Given the description of an element on the screen output the (x, y) to click on. 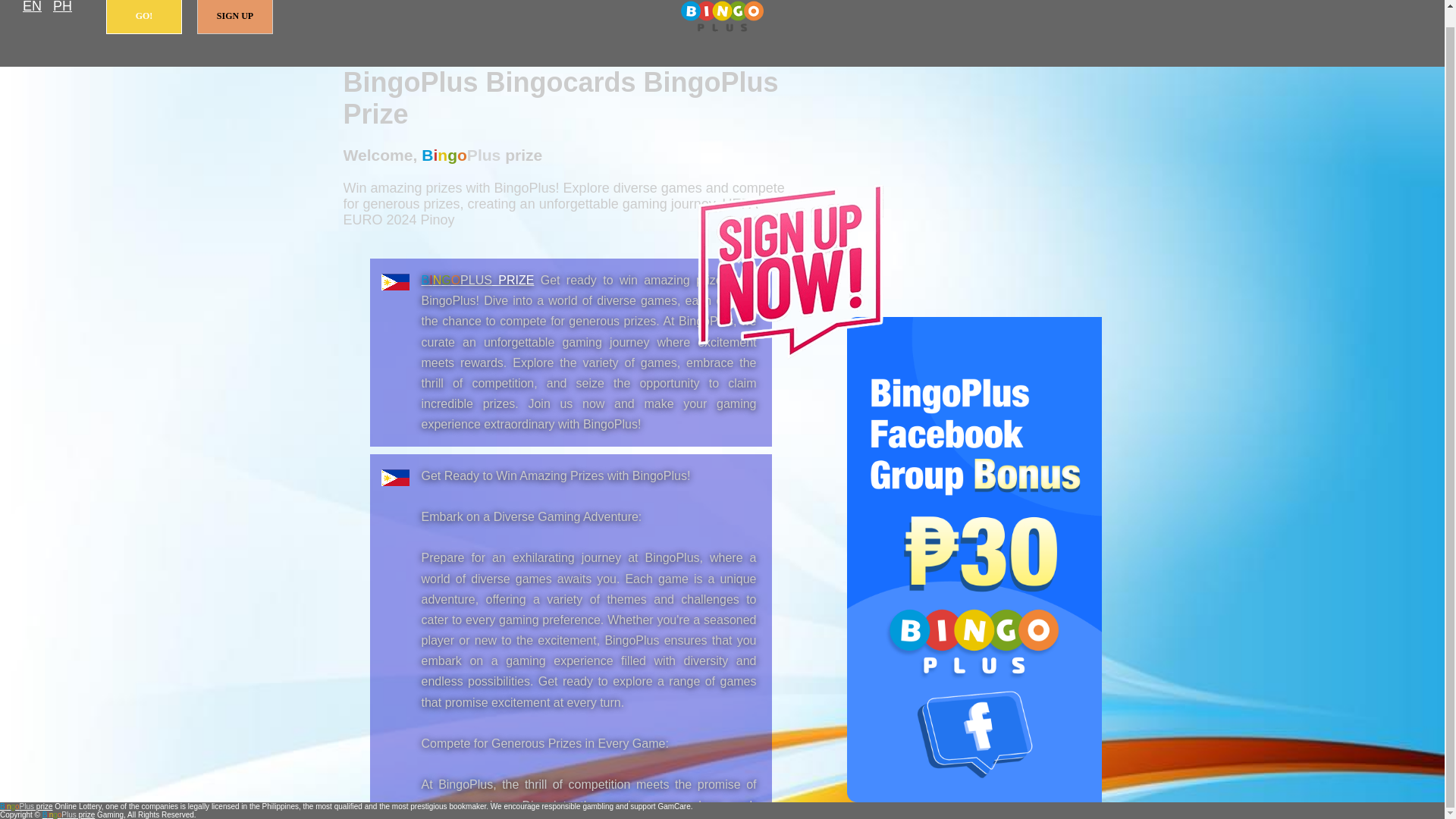
EN (32, 7)
Pilipinas - Filipino (61, 7)
BingoPlus prize (721, 16)
SIGN UP (234, 17)
BingoPlus prize (26, 806)
English - Filipino (32, 7)
BingoPlus prize (478, 279)
GO! (144, 17)
PH (61, 7)
BINGOPLUS PRIZE (478, 279)
